Given the description of an element on the screen output the (x, y) to click on. 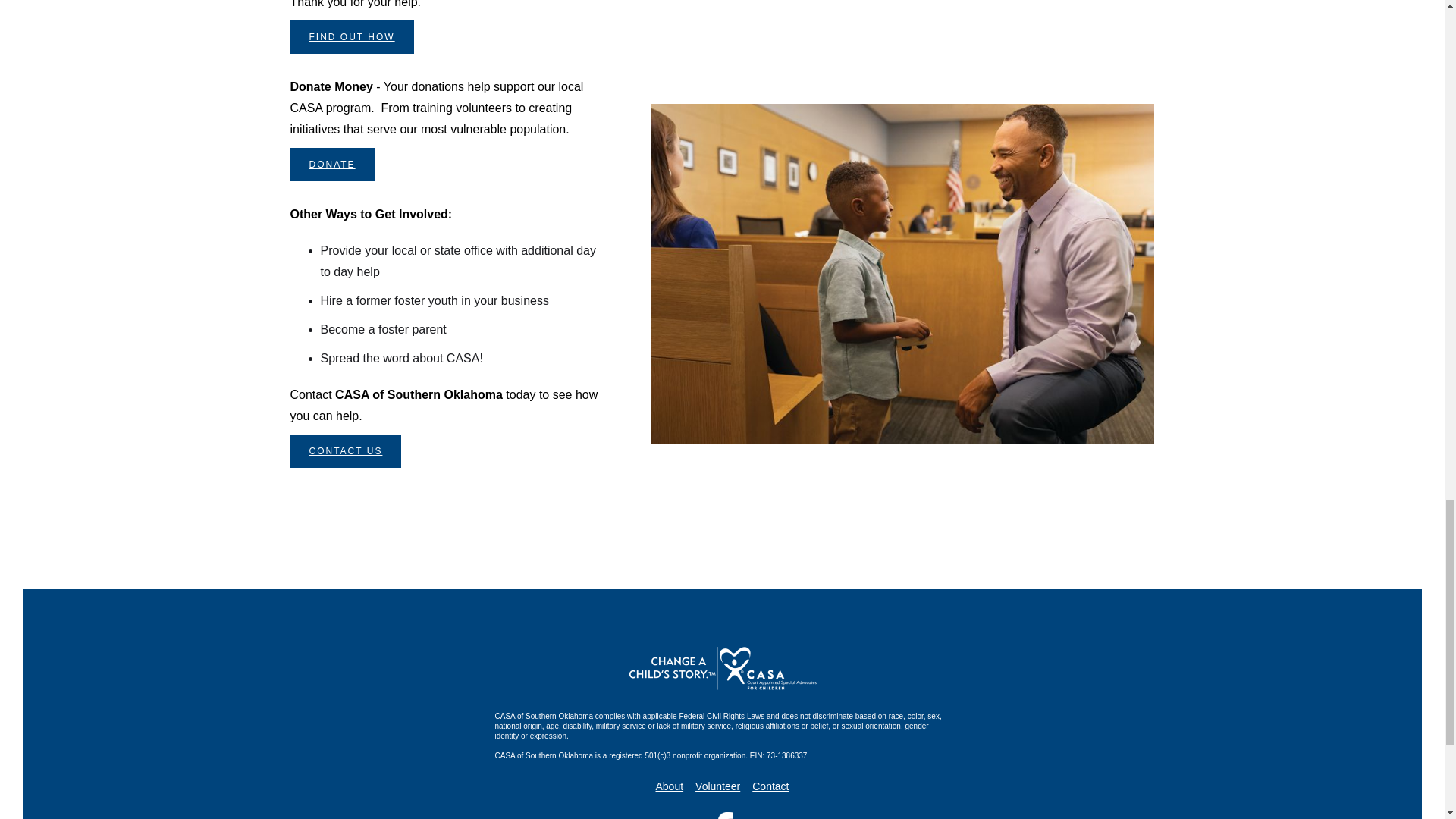
Contact (770, 786)
CONTACT US (345, 450)
FIND OUT HOW (351, 37)
Volunteer (717, 786)
About (668, 786)
DONATE (331, 164)
